Given the description of an element on the screen output the (x, y) to click on. 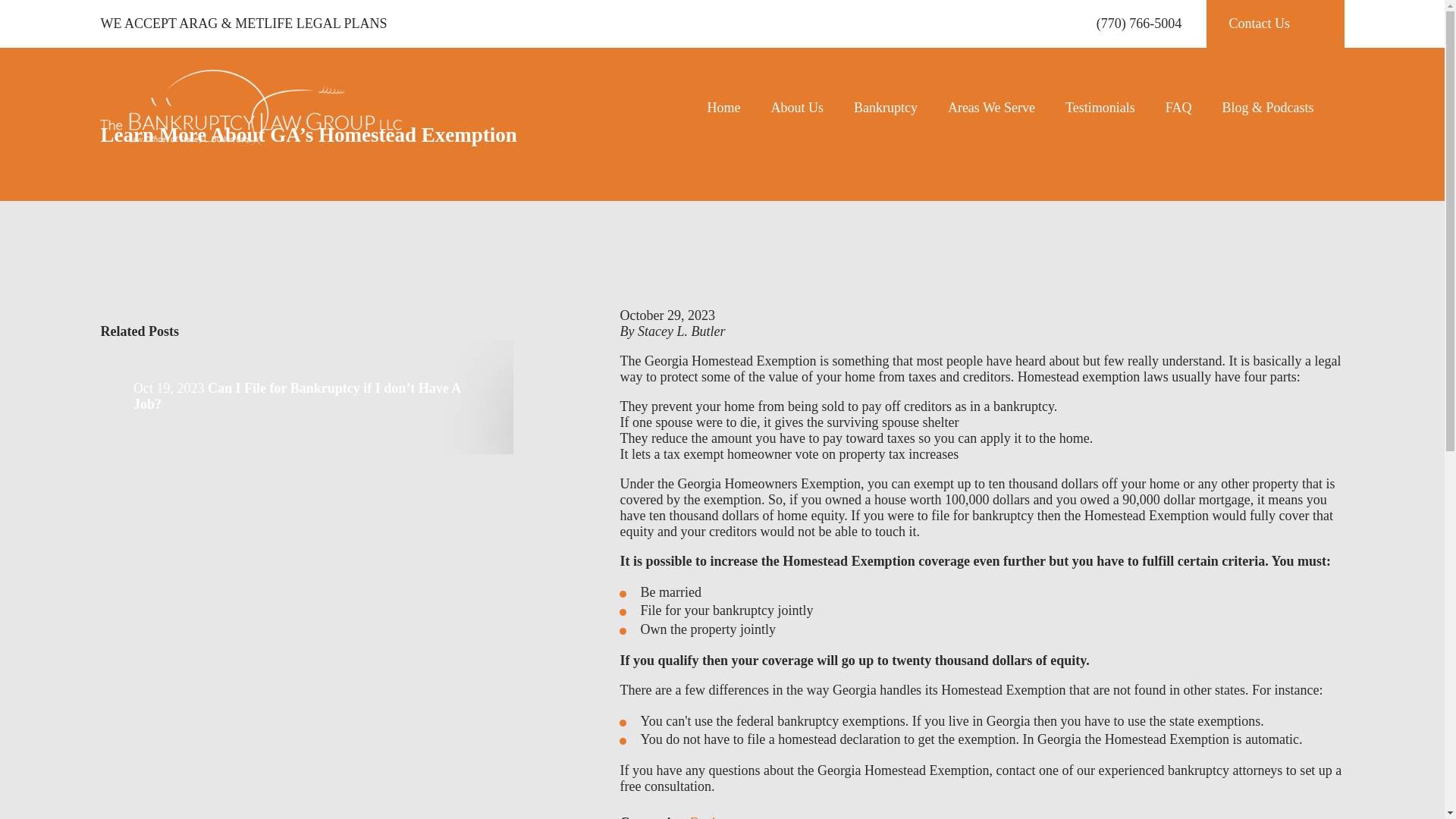
Testimonials (1100, 107)
Bankruptcy (885, 107)
About Us (797, 107)
Home (250, 107)
Contact Us (1275, 23)
Areas We Serve (991, 107)
